Given the description of an element on the screen output the (x, y) to click on. 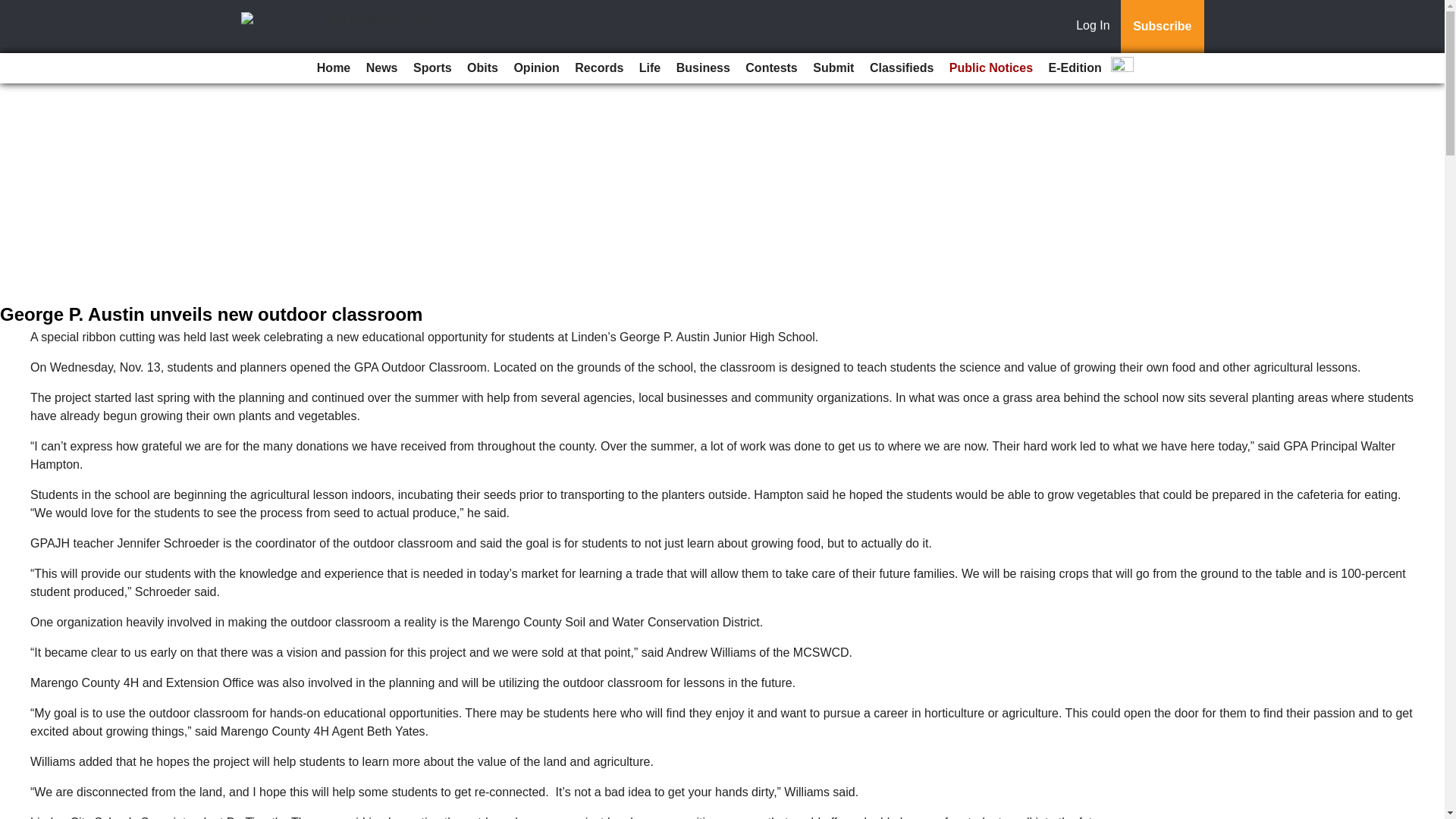
Opinion (535, 68)
Subscribe (1162, 26)
Public Notices (991, 68)
Records (598, 68)
Life (649, 68)
News (381, 68)
Obits (482, 68)
Log In (1095, 26)
Classifieds (901, 68)
Home (333, 68)
